Given the description of an element on the screen output the (x, y) to click on. 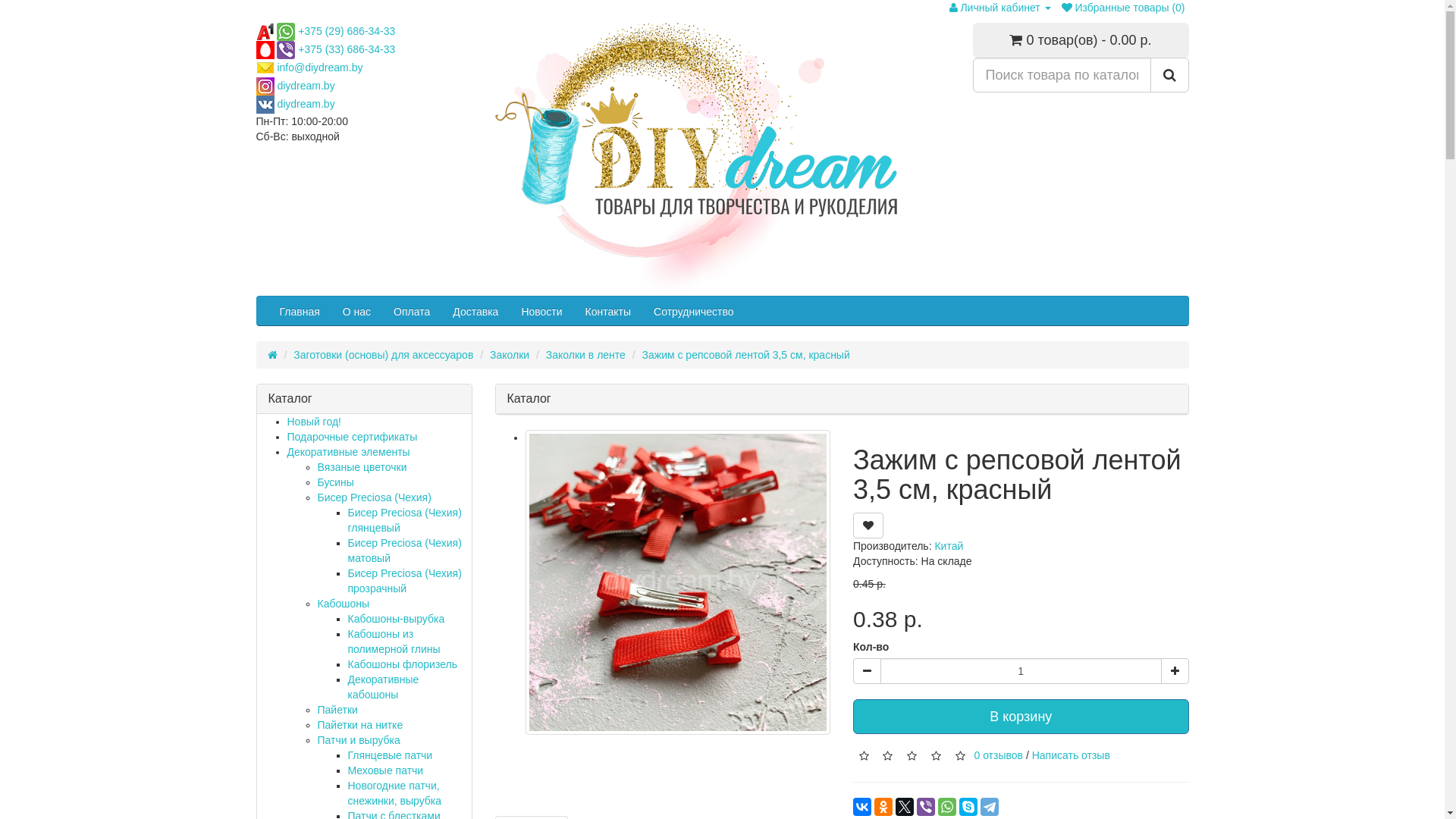
DIYdream.by Element type: hover (695, 158)
Skype Element type: hover (968, 806)
diydream.by Element type: text (305, 103)
Viber Element type: hover (925, 806)
Telegram Element type: hover (989, 806)
diydream.by Element type: text (305, 85)
info@diydream.by Element type: text (319, 67)
WhatsApp Element type: hover (947, 806)
+375 (33) 686-34-33 Element type: text (346, 49)
Twitter Element type: hover (904, 806)
+375 (29) 686-34-33 Element type: text (346, 31)
